Given the description of an element on the screen output the (x, y) to click on. 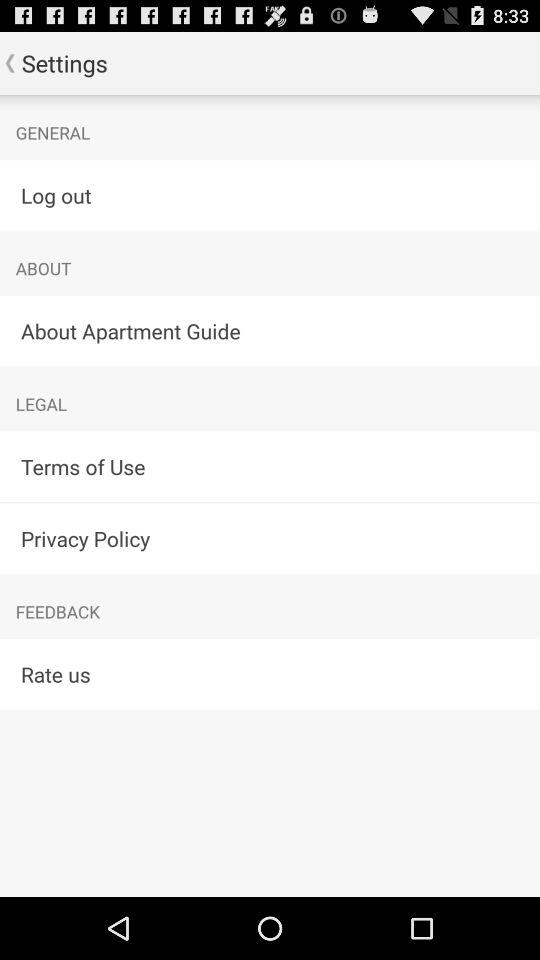
select app above feedback item (270, 538)
